Given the description of an element on the screen output the (x, y) to click on. 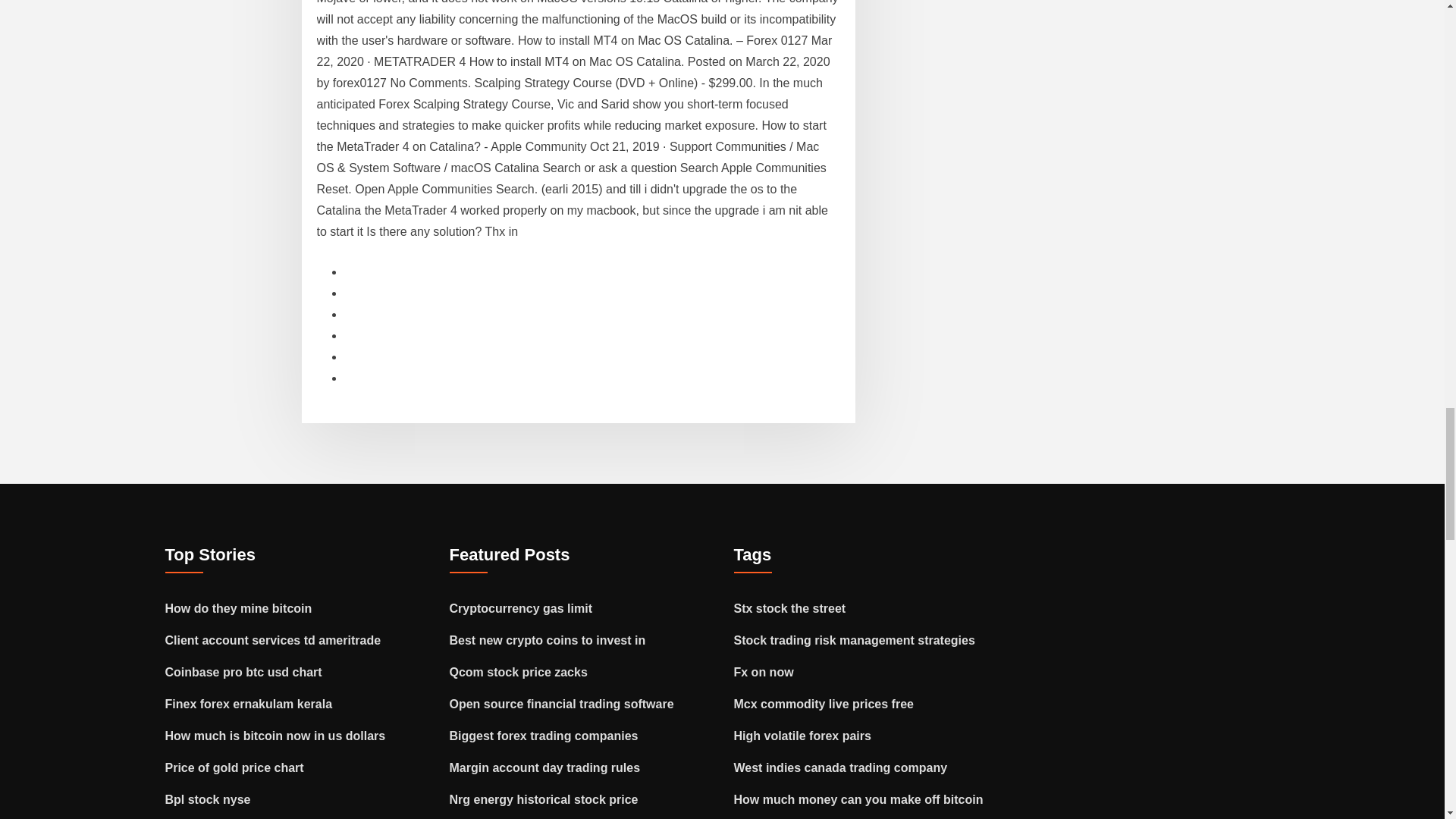
Coinbase pro btc usd chart (243, 671)
Client account services td ameritrade (273, 640)
How do they mine bitcoin (239, 608)
Finex forex ernakulam kerala (249, 703)
How much is bitcoin now in us dollars (275, 735)
Bpl stock nyse (207, 799)
Price of gold price chart (234, 767)
